Given the description of an element on the screen output the (x, y) to click on. 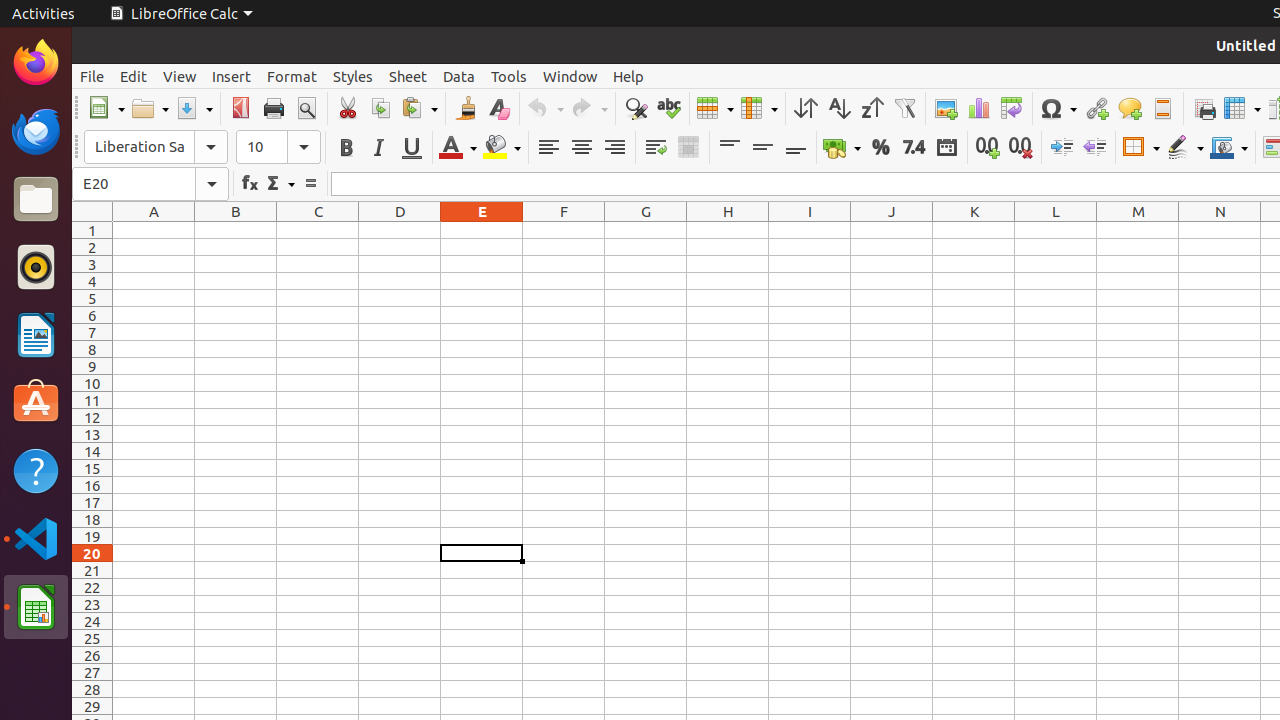
Date Element type: push-button (946, 147)
Increase Element type: push-button (1061, 147)
Symbol Element type: push-button (1058, 108)
Edit Element type: menu (133, 76)
